Given the description of an element on the screen output the (x, y) to click on. 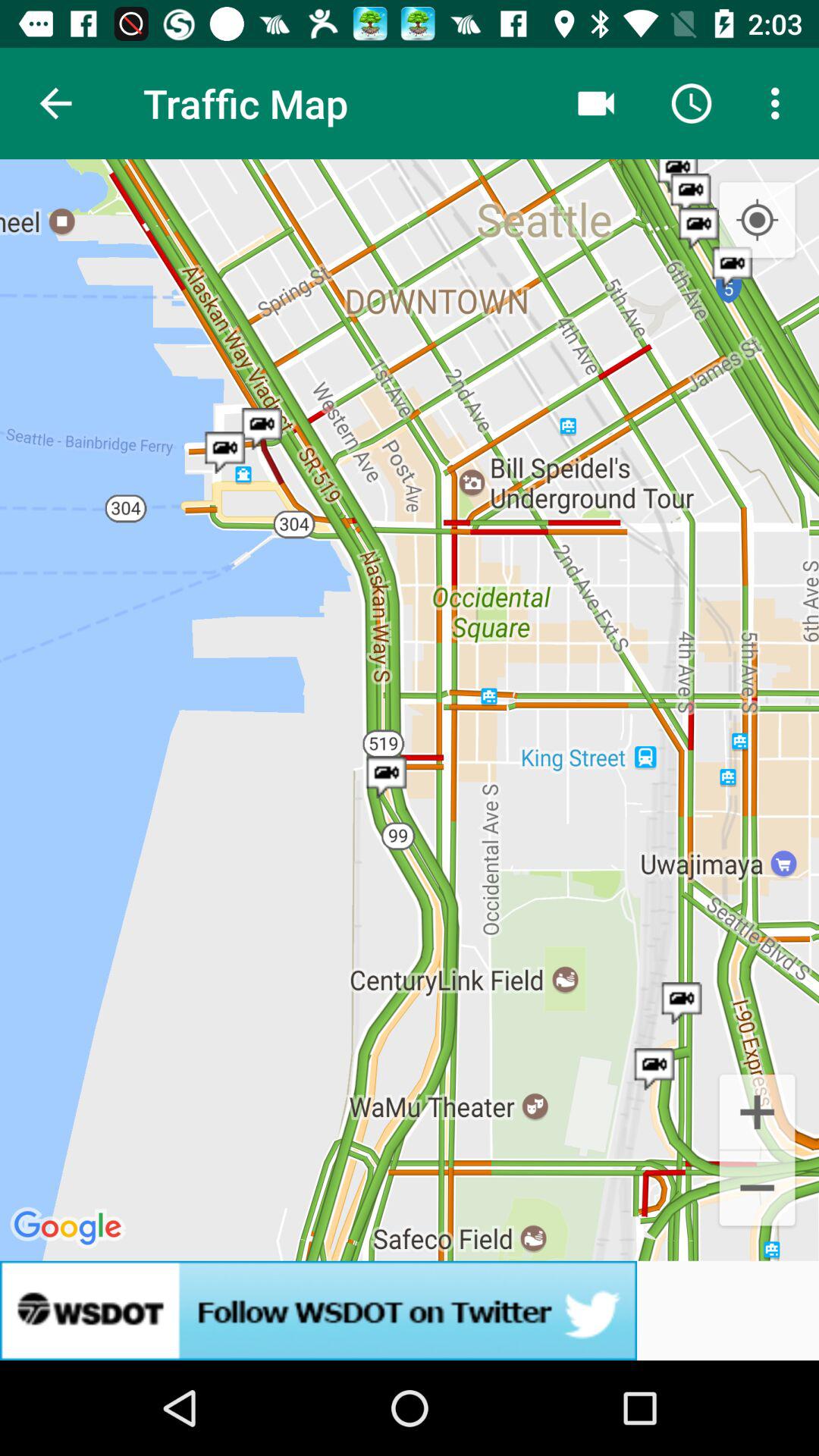
follow on twitter (409, 1310)
